Given the description of an element on the screen output the (x, y) to click on. 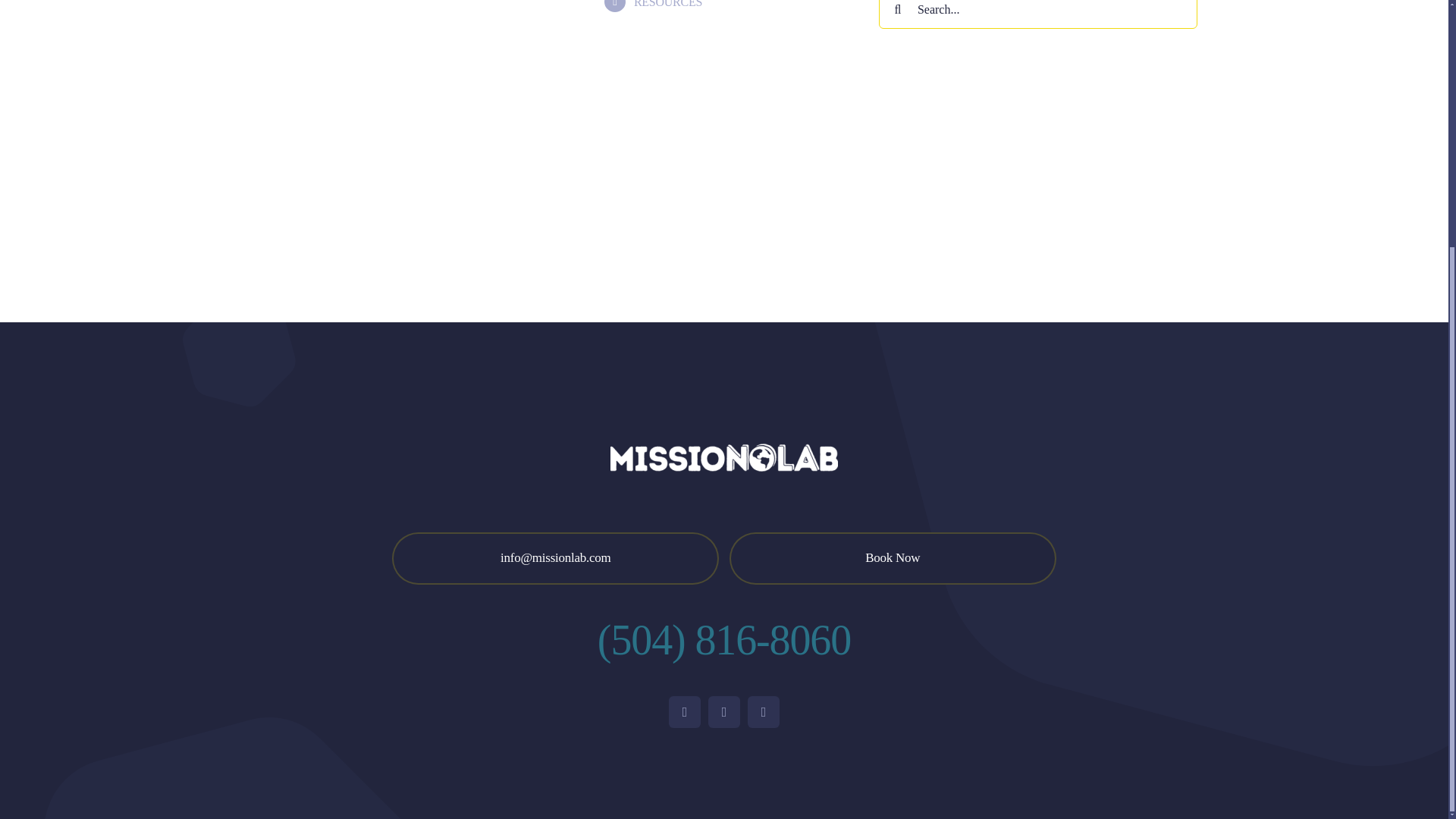
RESOURCES (667, 4)
MissionLab 01-reversed-01 (724, 457)
Instagram (723, 712)
YouTube (763, 712)
Facebook (684, 712)
Book Now (893, 557)
